Given the description of an element on the screen output the (x, y) to click on. 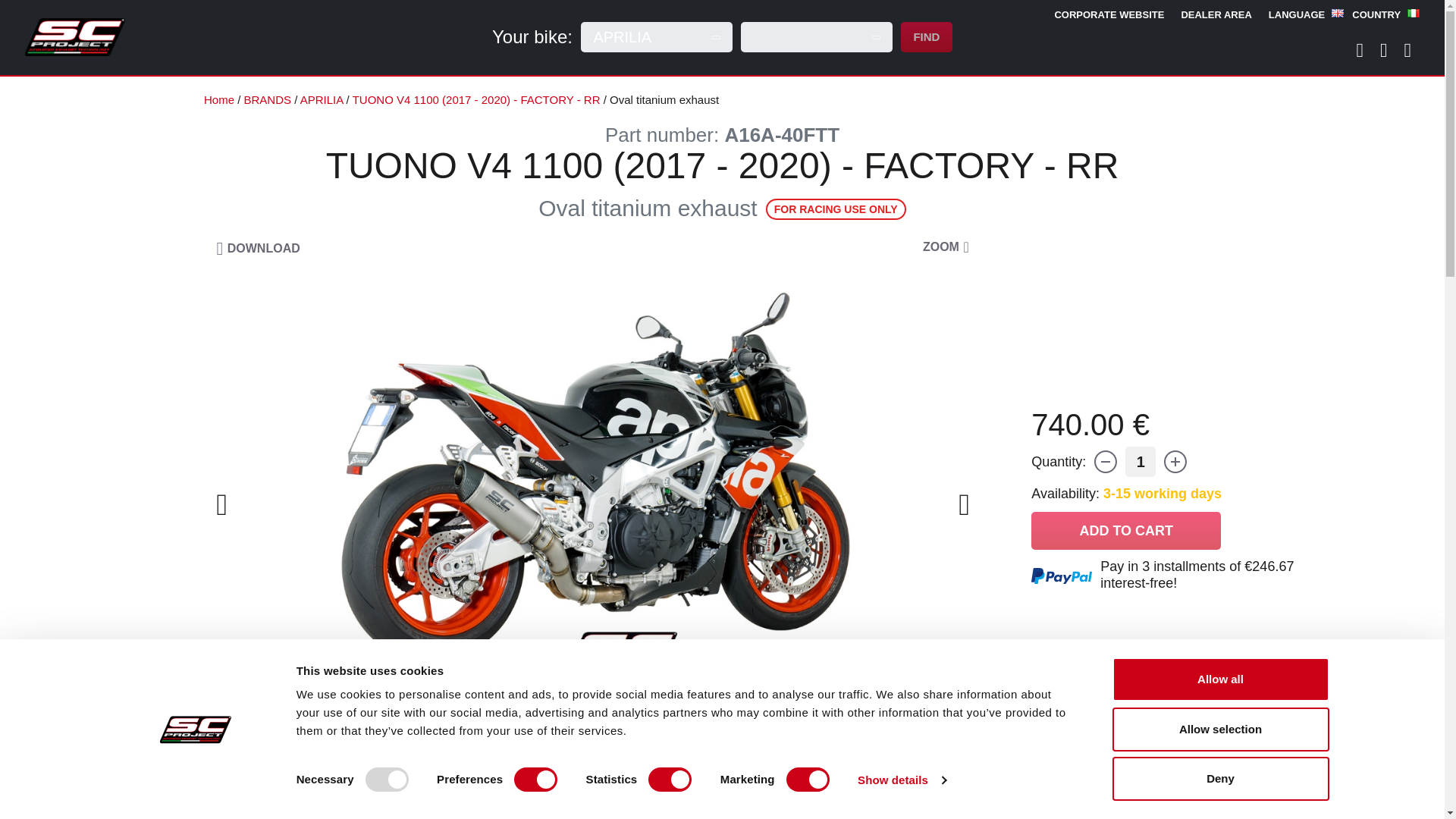
Allow selection (1219, 728)
Show details (900, 780)
Logo SC-Project (74, 37)
Allow all (1219, 679)
FIND (926, 37)
Deny (1219, 778)
